Given the description of an element on the screen output the (x, y) to click on. 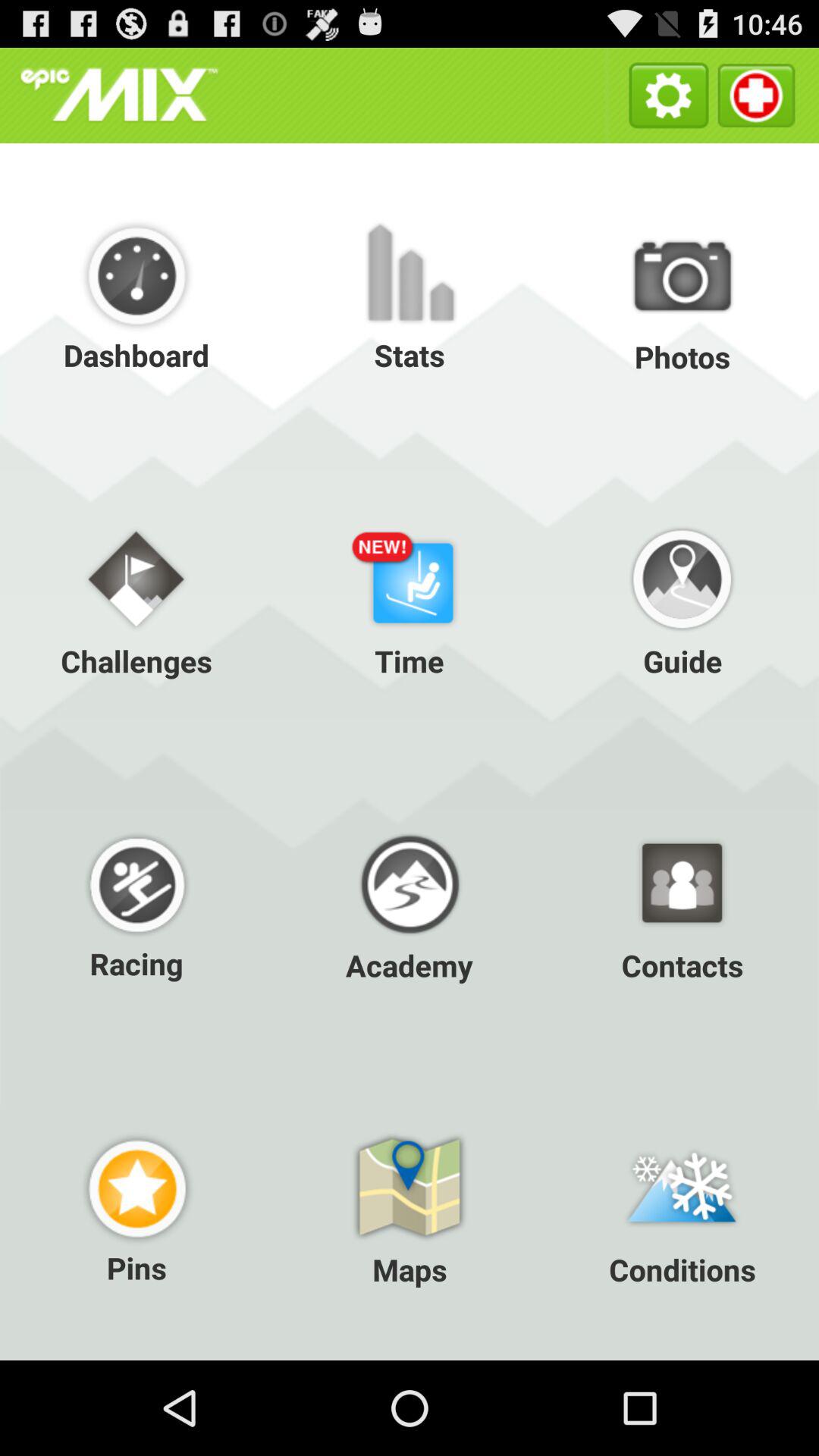
launch the button next to challenges item (409, 599)
